Given the description of an element on the screen output the (x, y) to click on. 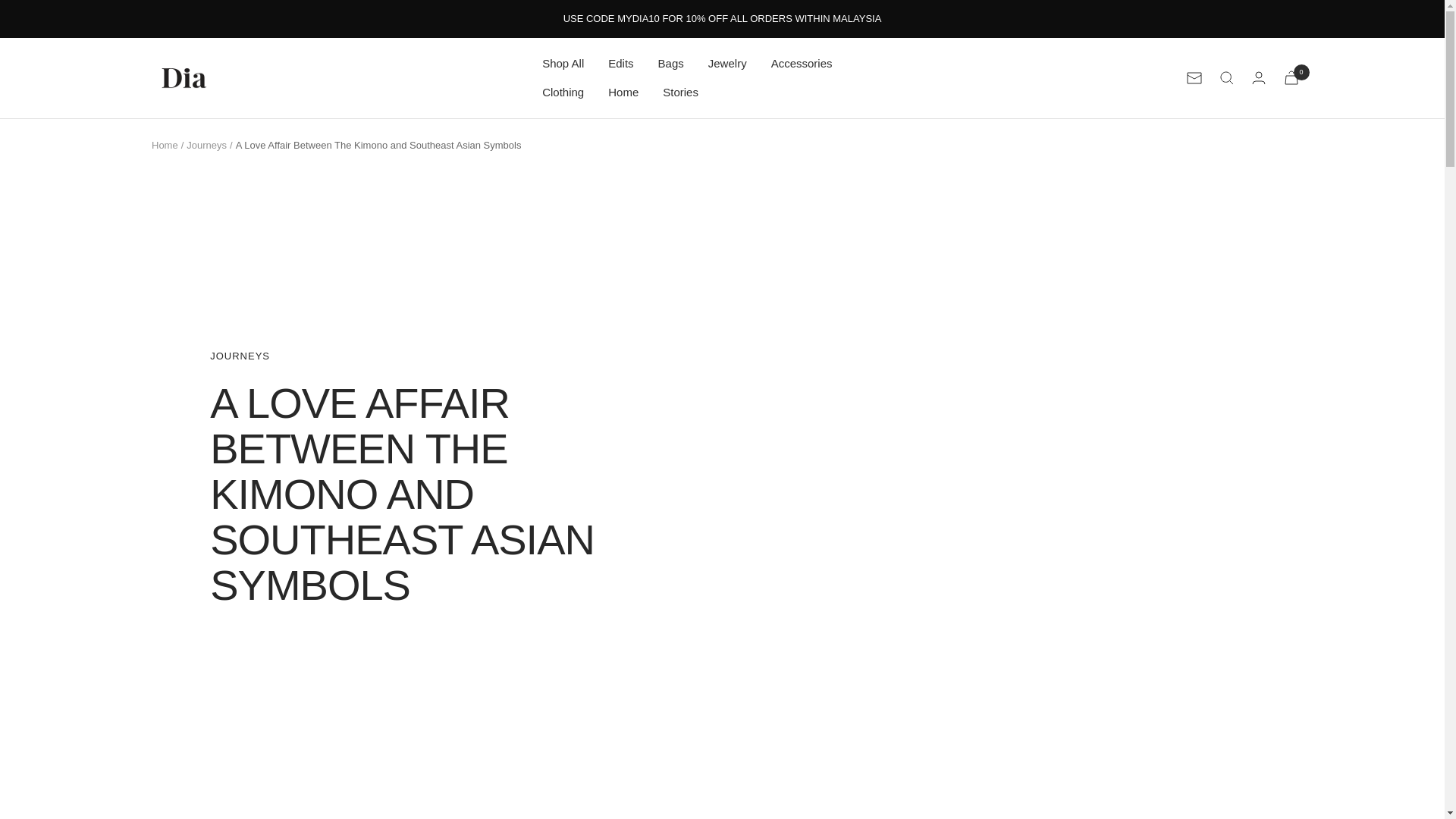
Journeys (206, 144)
Accessories (801, 63)
0 (1291, 77)
Dia (183, 78)
JOURNEYS (438, 356)
Jewelry (726, 63)
Stories (680, 92)
Home (164, 144)
Edits (620, 63)
Shop All (562, 63)
Clothing (562, 92)
Home (623, 92)
Bags (671, 63)
